Given the description of an element on the screen output the (x, y) to click on. 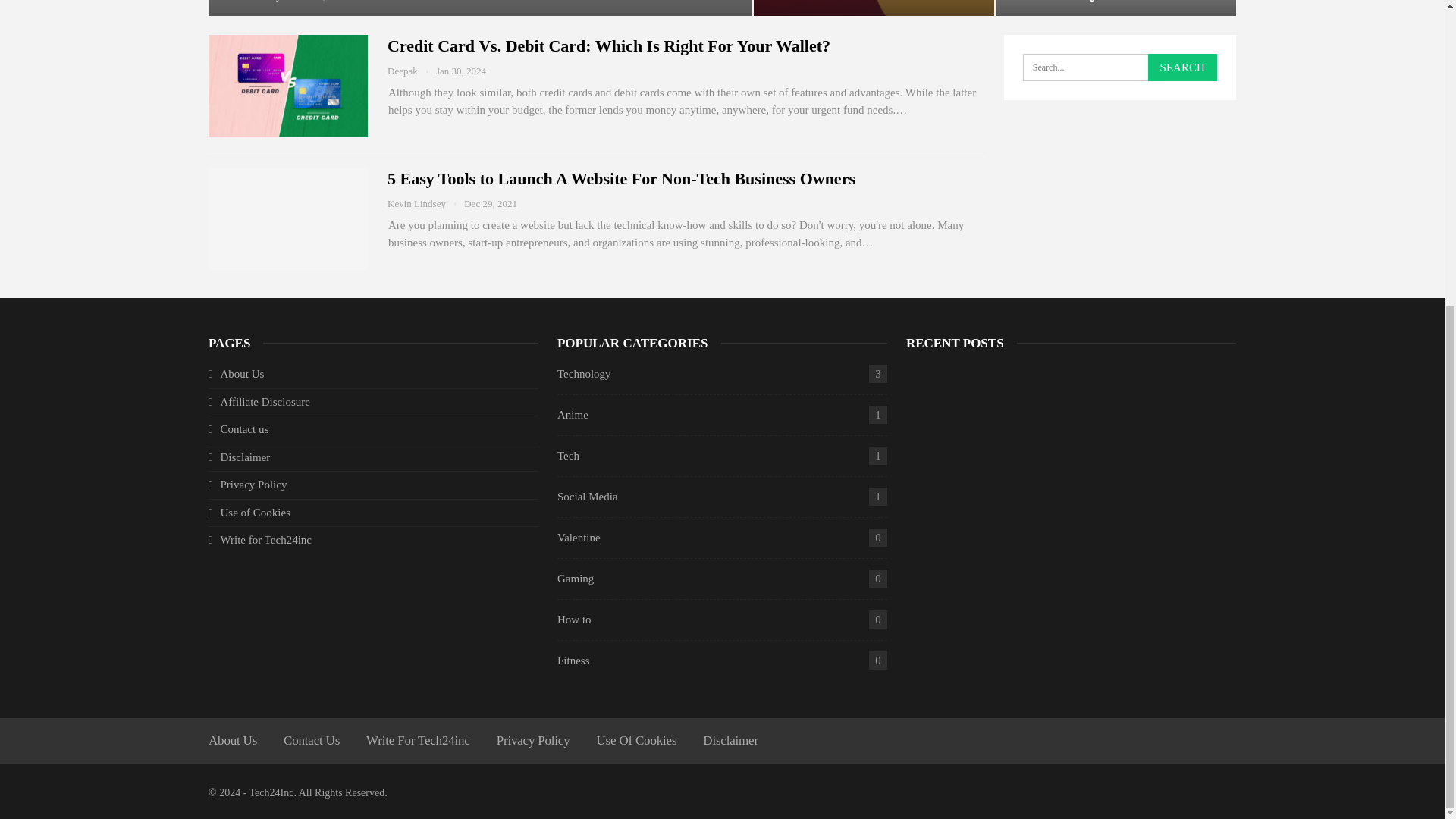
The Benefits of Influencer Marketing for Brands (480, 8)
Browse Author Articles (425, 203)
Search for: (1120, 67)
Search (1182, 67)
Search (1182, 67)
Browse Author Articles (411, 70)
Kevin Lindsey (261, 0)
Credit Card Vs. Debit Card: Which Is Right For Your Wallet? (288, 85)
Browse Author Articles (261, 0)
